Given the description of an element on the screen output the (x, y) to click on. 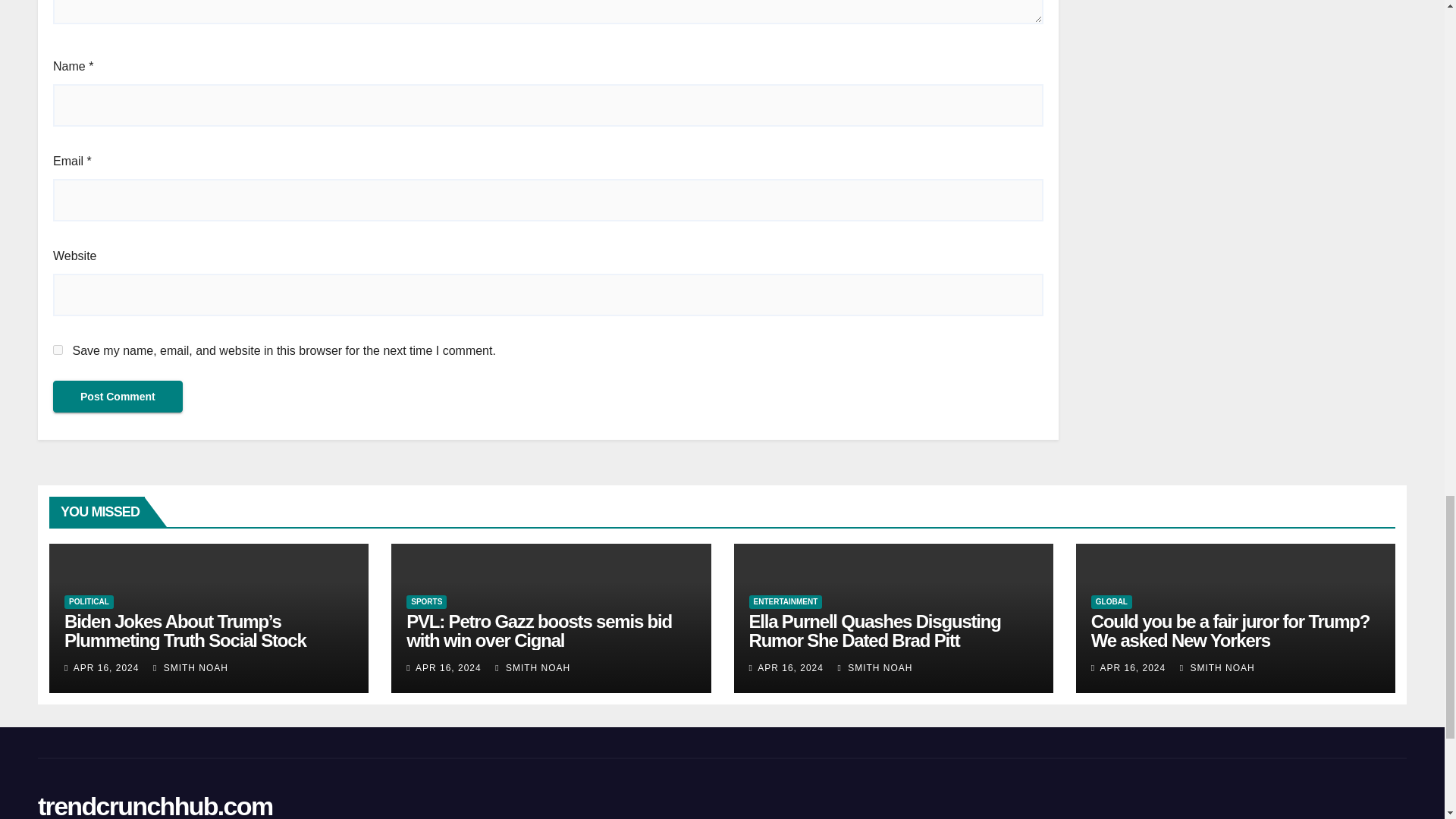
yes (57, 349)
Post Comment (117, 396)
